Given the description of an element on the screen output the (x, y) to click on. 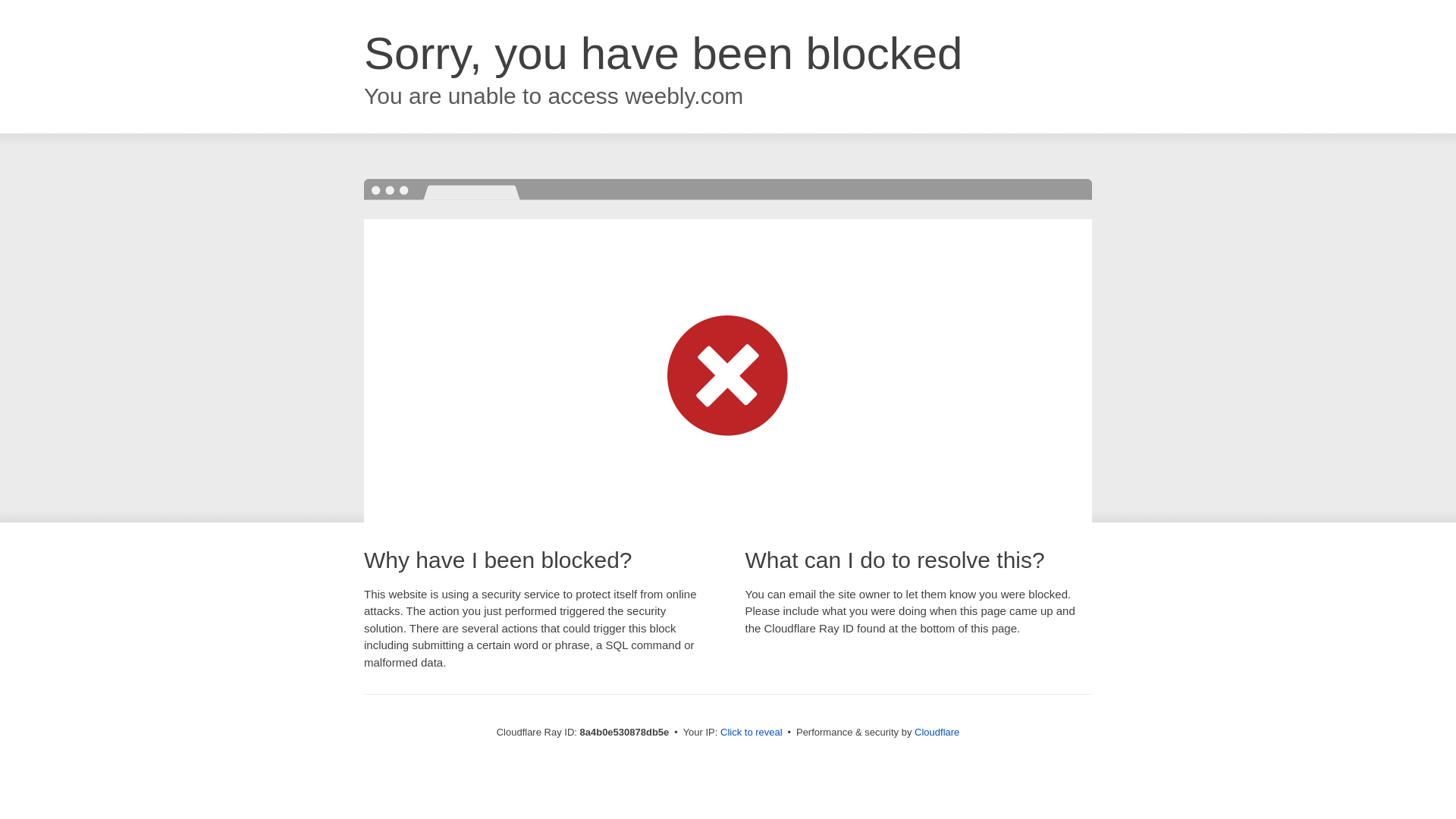
Cloudflare (936, 731)
Click to reveal (751, 732)
